Given the description of an element on the screen output the (x, y) to click on. 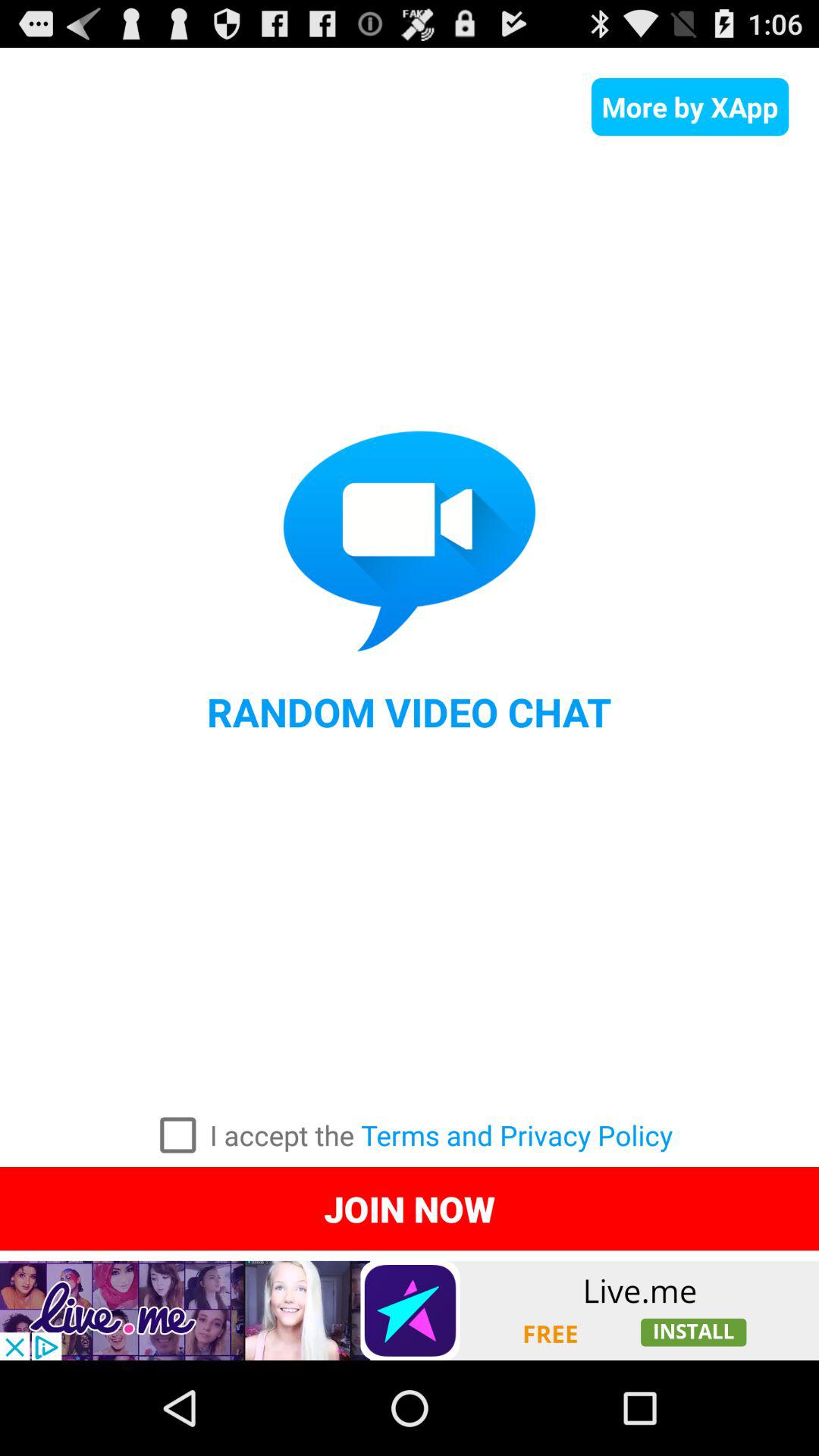
accept box (177, 1135)
